Given the description of an element on the screen output the (x, y) to click on. 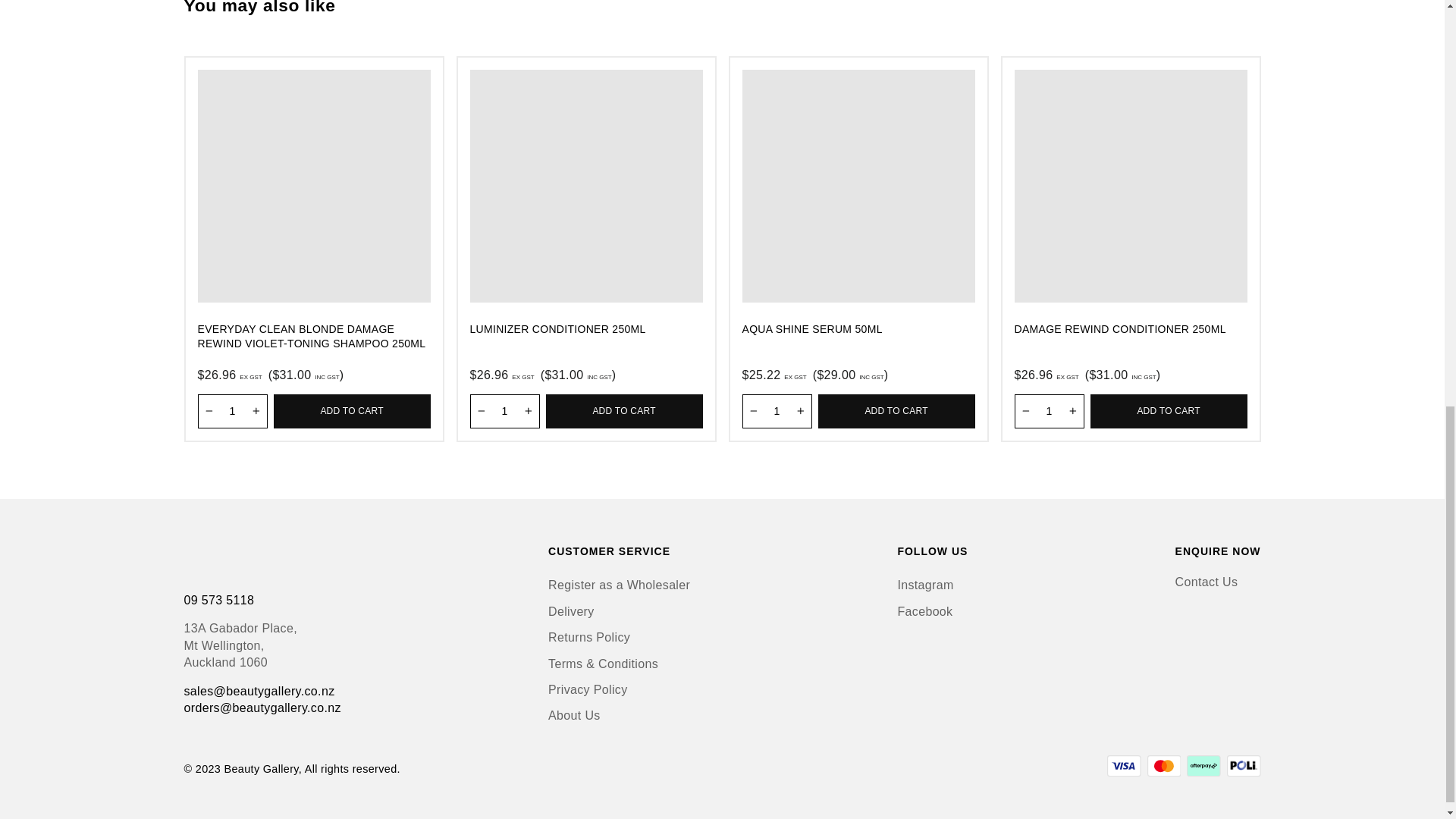
Contact (1206, 581)
1 (775, 410)
1 (231, 410)
1 (505, 410)
1 (1049, 410)
